Given the description of an element on the screen output the (x, y) to click on. 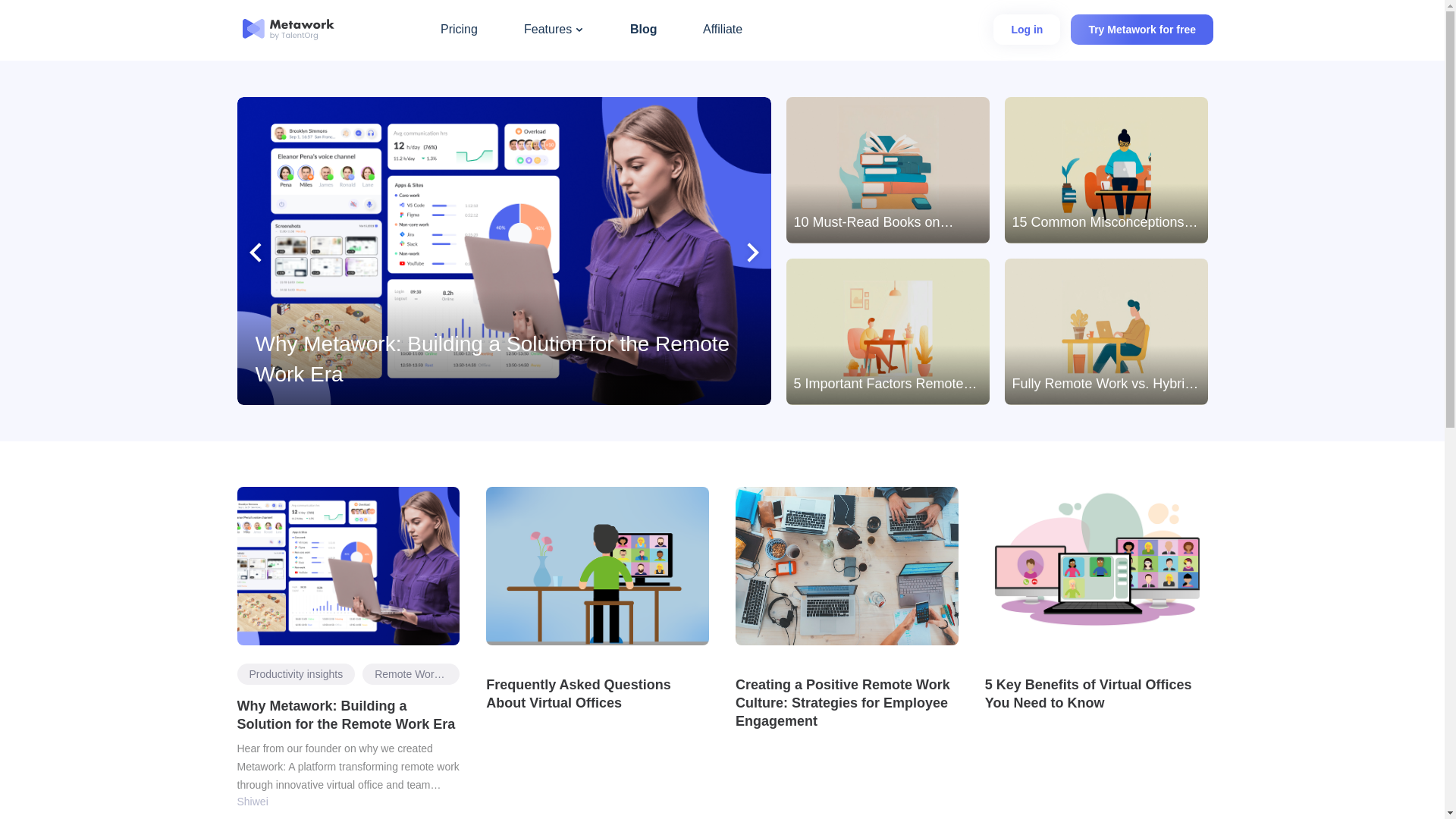
Remote Work Software (411, 673)
10 Must-Read Books on Remote Work (887, 170)
Frequently Asked Questions About Virtual Offices (597, 693)
5 Important Factors Remote Teams Must Consider (887, 331)
Log in (1025, 29)
15 Common Misconceptions About Remote Teams to Employers (1105, 170)
Try Metawork for free (1141, 29)
5 Key Benefits of Virtual Offices You Need to Know (1096, 693)
Productivity insights (295, 673)
